Given the description of an element on the screen output the (x, y) to click on. 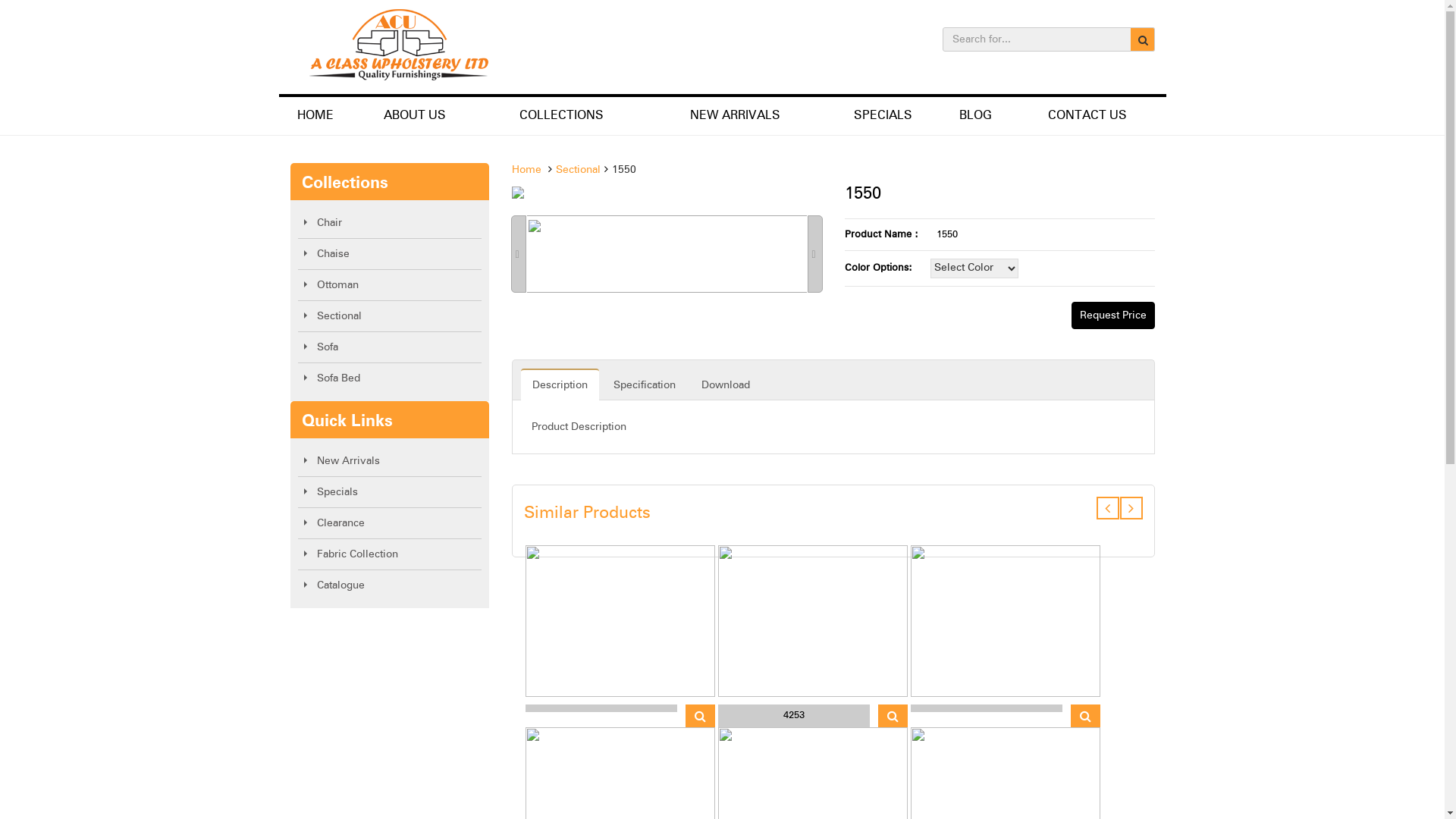
BLOG Element type: text (974, 115)
Specification Element type: text (644, 384)
ABOUT US Element type: text (414, 115)
COLLECTIONS Element type: text (561, 115)
Specials Element type: text (389, 491)
HOME Element type: text (315, 115)
Clearance Element type: text (389, 523)
Description Element type: text (559, 384)
Sofa Bed Element type: text (389, 378)
NEW ARRIVALS Element type: text (735, 115)
New Arrivals Element type: text (389, 460)
Sofa Element type: text (389, 347)
Chaise Element type: text (389, 253)
Chair Element type: text (389, 222)
SPECIALS Element type: text (883, 115)
Sectional Element type: text (577, 169)
Download Element type: text (725, 384)
Home Element type: text (526, 169)
Sectional Element type: text (389, 316)
Fabric Collection Element type: text (389, 554)
CONTACT US Element type: text (1086, 115)
Ottoman Element type: text (389, 284)
Request Price Element type: text (1112, 315)
Catalogue Element type: text (389, 585)
